Given the description of an element on the screen output the (x, y) to click on. 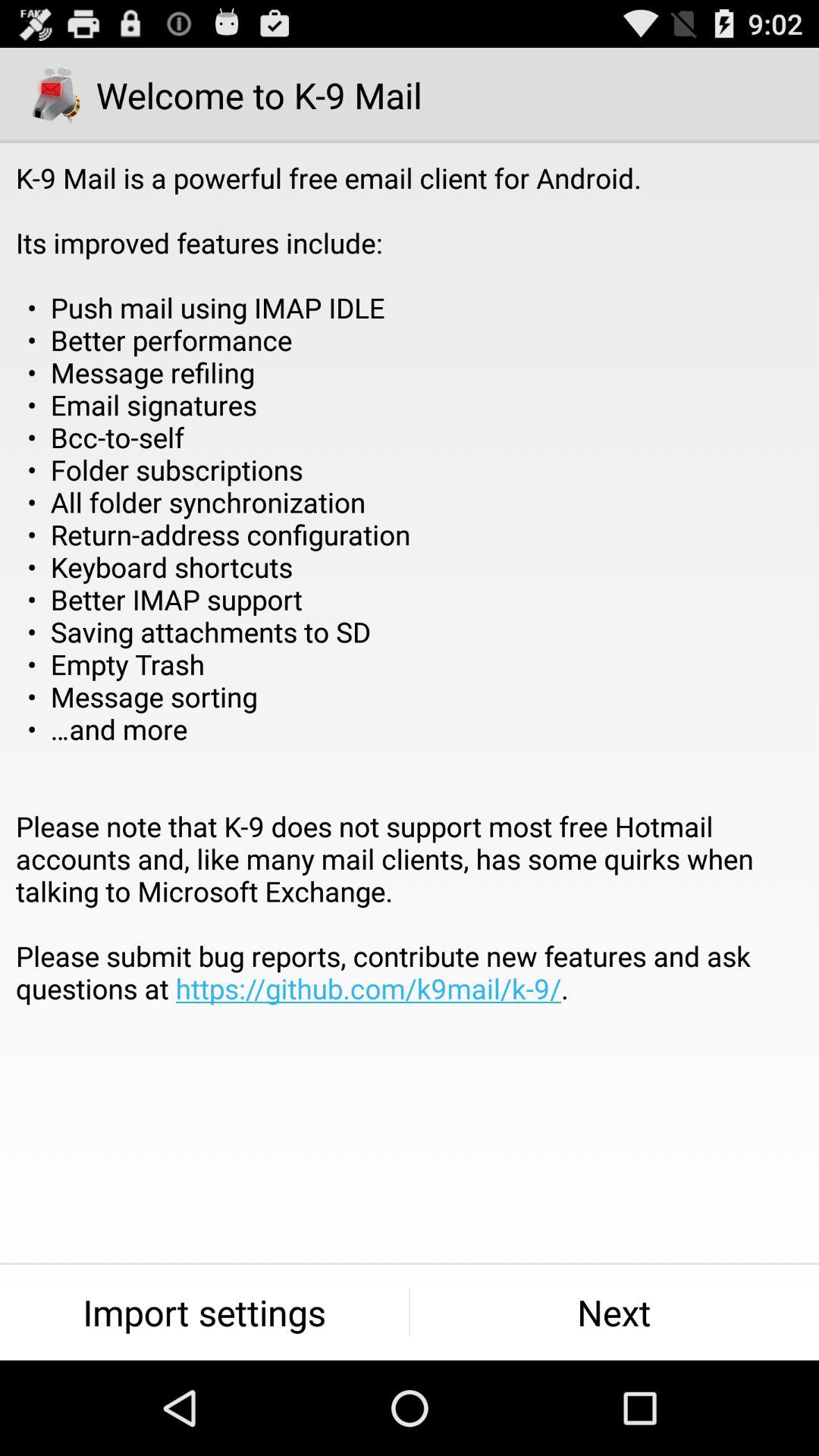
choose the icon next to the import settings (614, 1312)
